Given the description of an element on the screen output the (x, y) to click on. 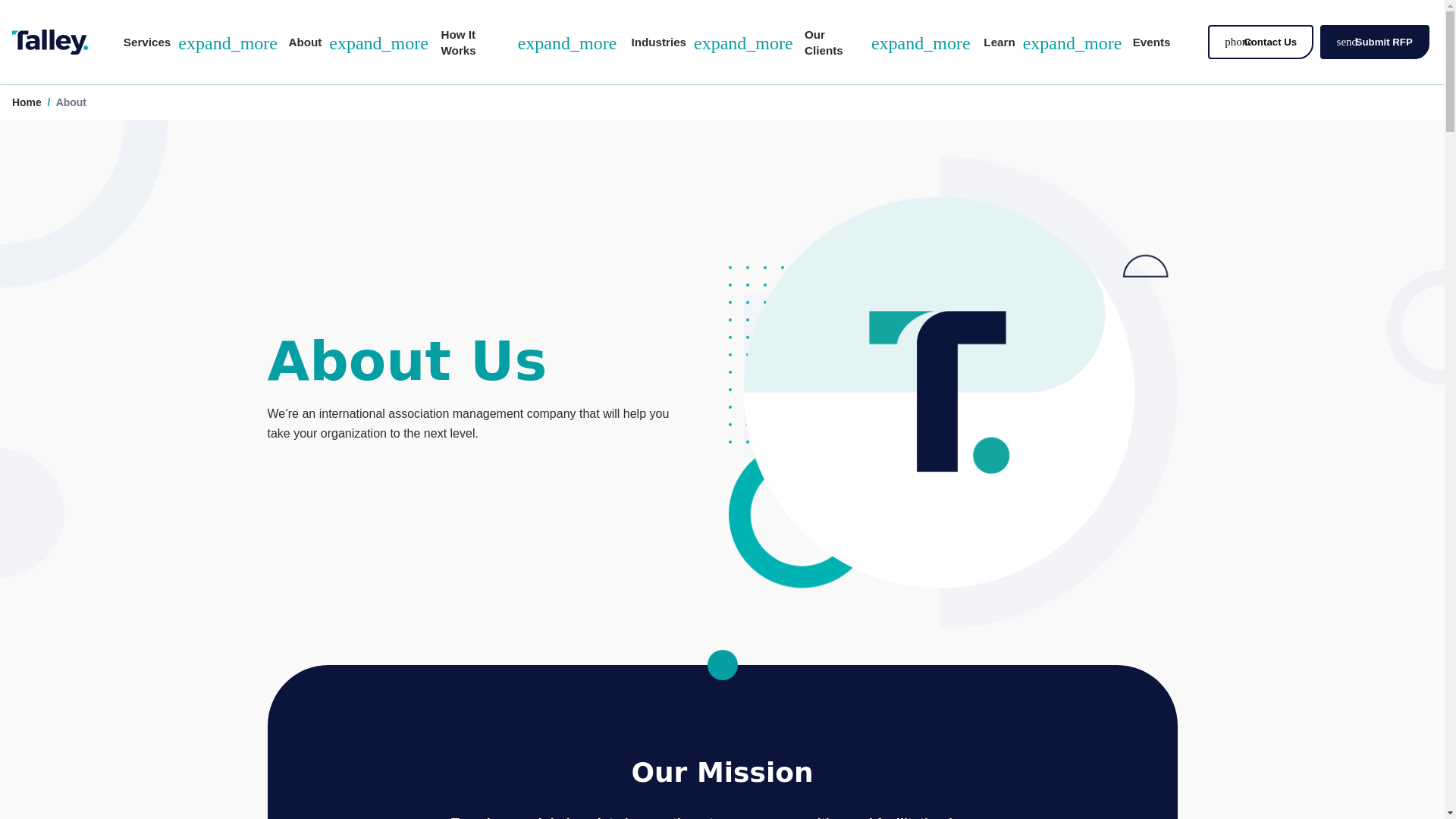
Events (1151, 41)
Home (26, 102)
About (70, 102)
